Given the description of an element on the screen output the (x, y) to click on. 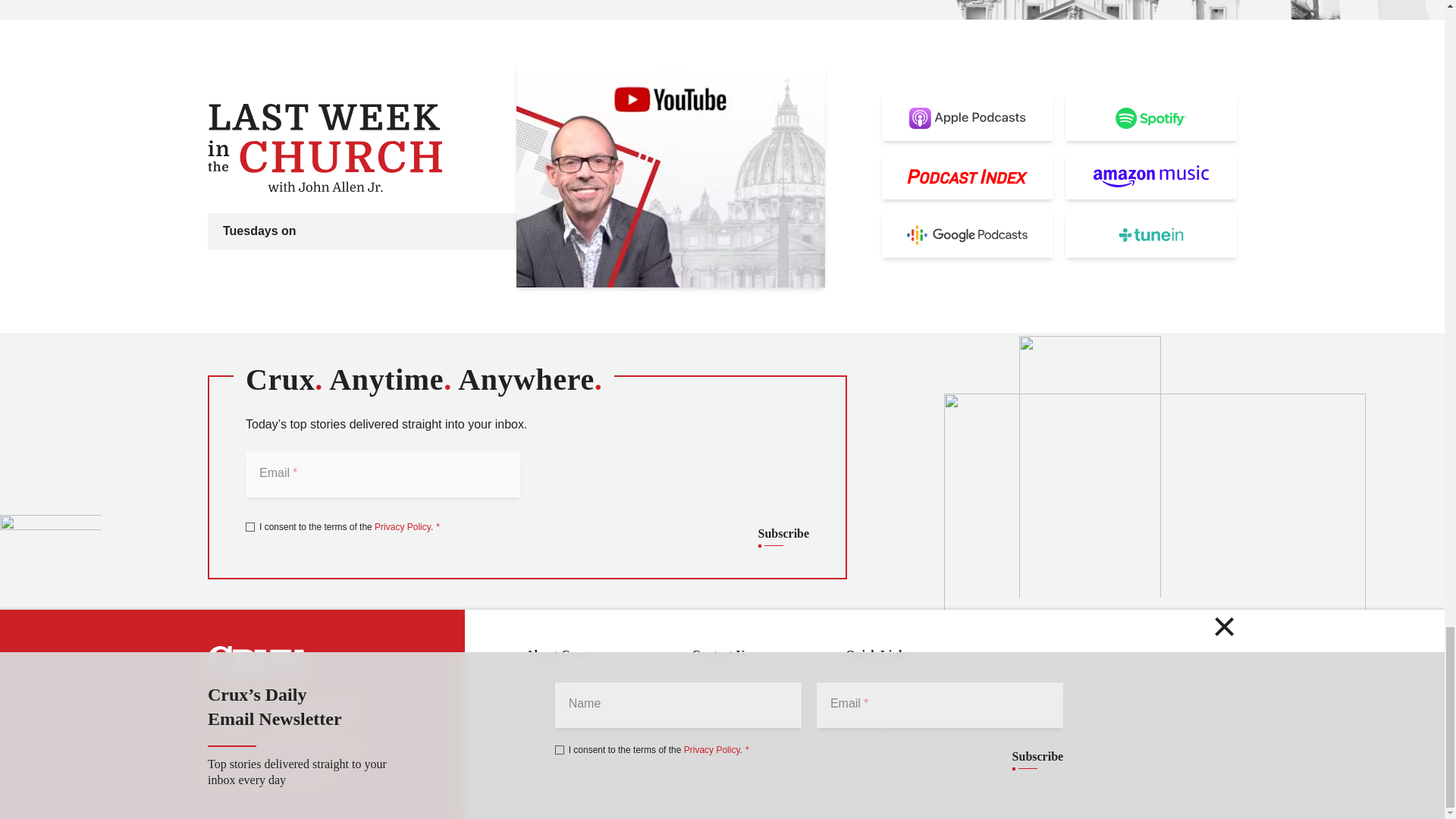
true (250, 526)
